Given the description of an element on the screen output the (x, y) to click on. 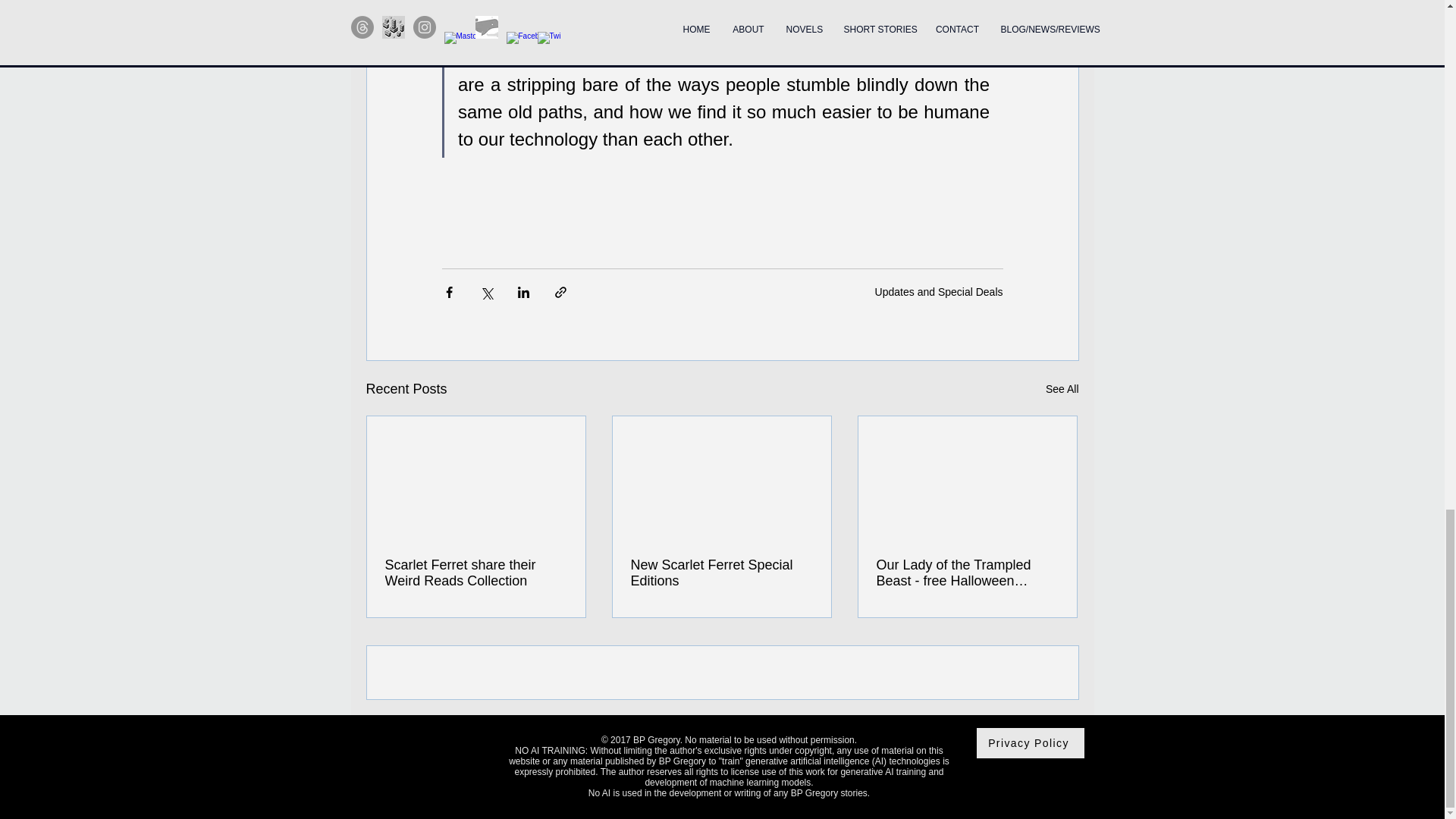
Updates and Special Deals (939, 291)
Scarlet Ferret share their Weird Reads Collection (476, 572)
New Scarlet Ferret Special Editions (721, 572)
Privacy Policy (1030, 743)
See All (1061, 389)
